Given the description of an element on the screen output the (x, y) to click on. 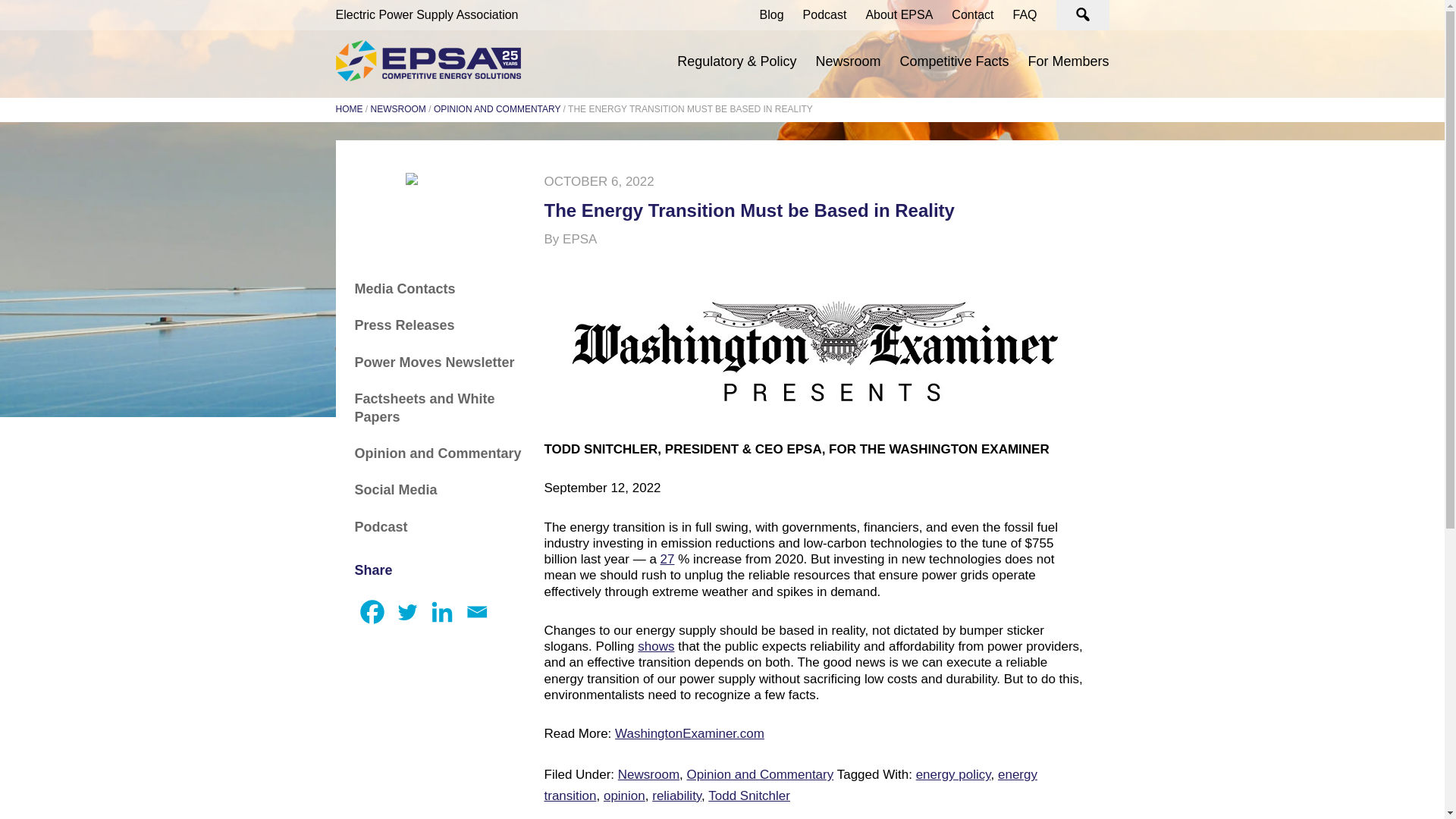
Newsroom (847, 61)
Linkedin (442, 612)
Competitive Facts (954, 61)
SEARCH (1081, 15)
FAQ (1023, 14)
Twitter (407, 612)
About EPSA (898, 14)
Contact (972, 14)
Email (477, 612)
Podcast (825, 14)
Blog (772, 14)
Facebook (372, 612)
